Given the description of an element on the screen output the (x, y) to click on. 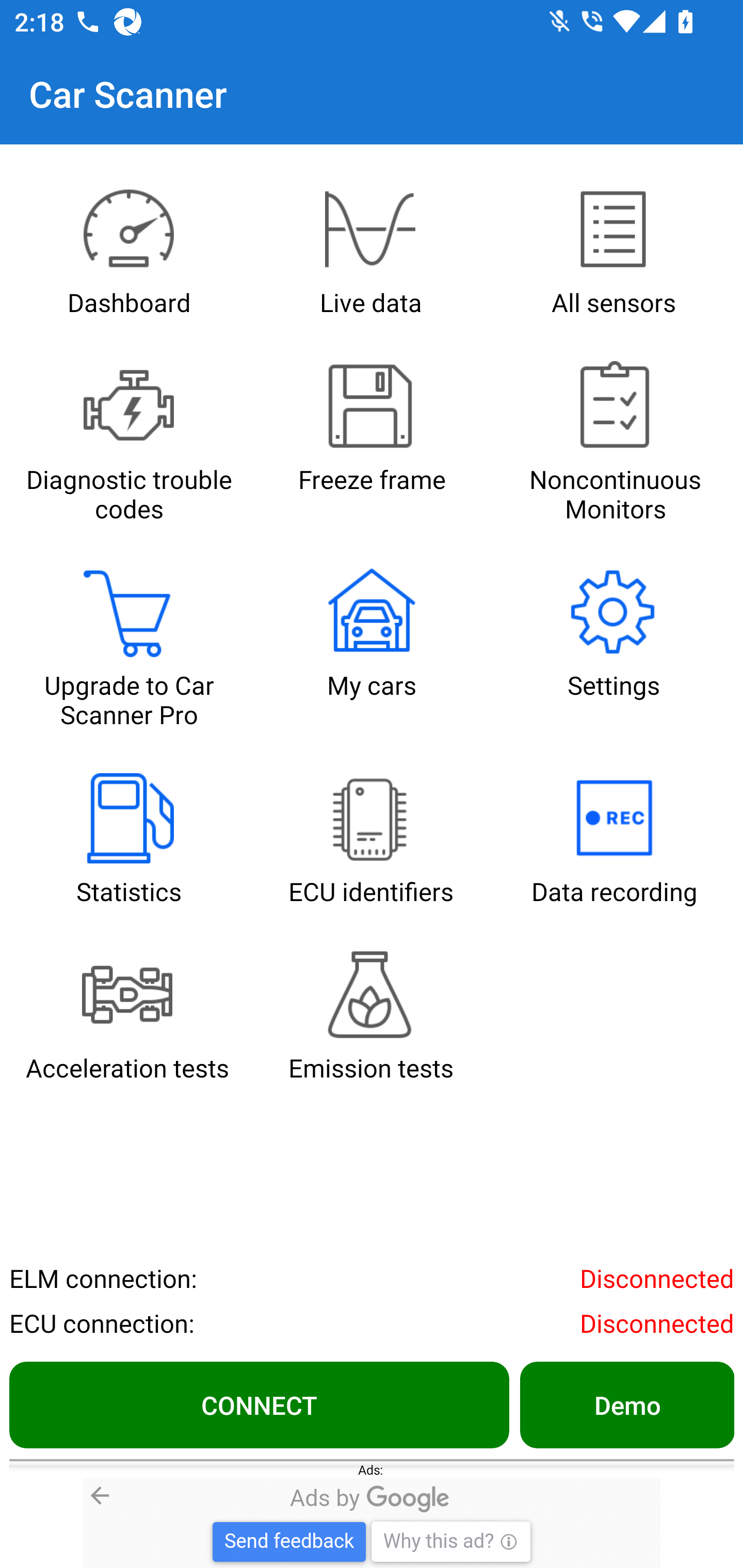
CONNECT (258, 1404)
Demo (627, 1404)
